Given the description of an element on the screen output the (x, y) to click on. 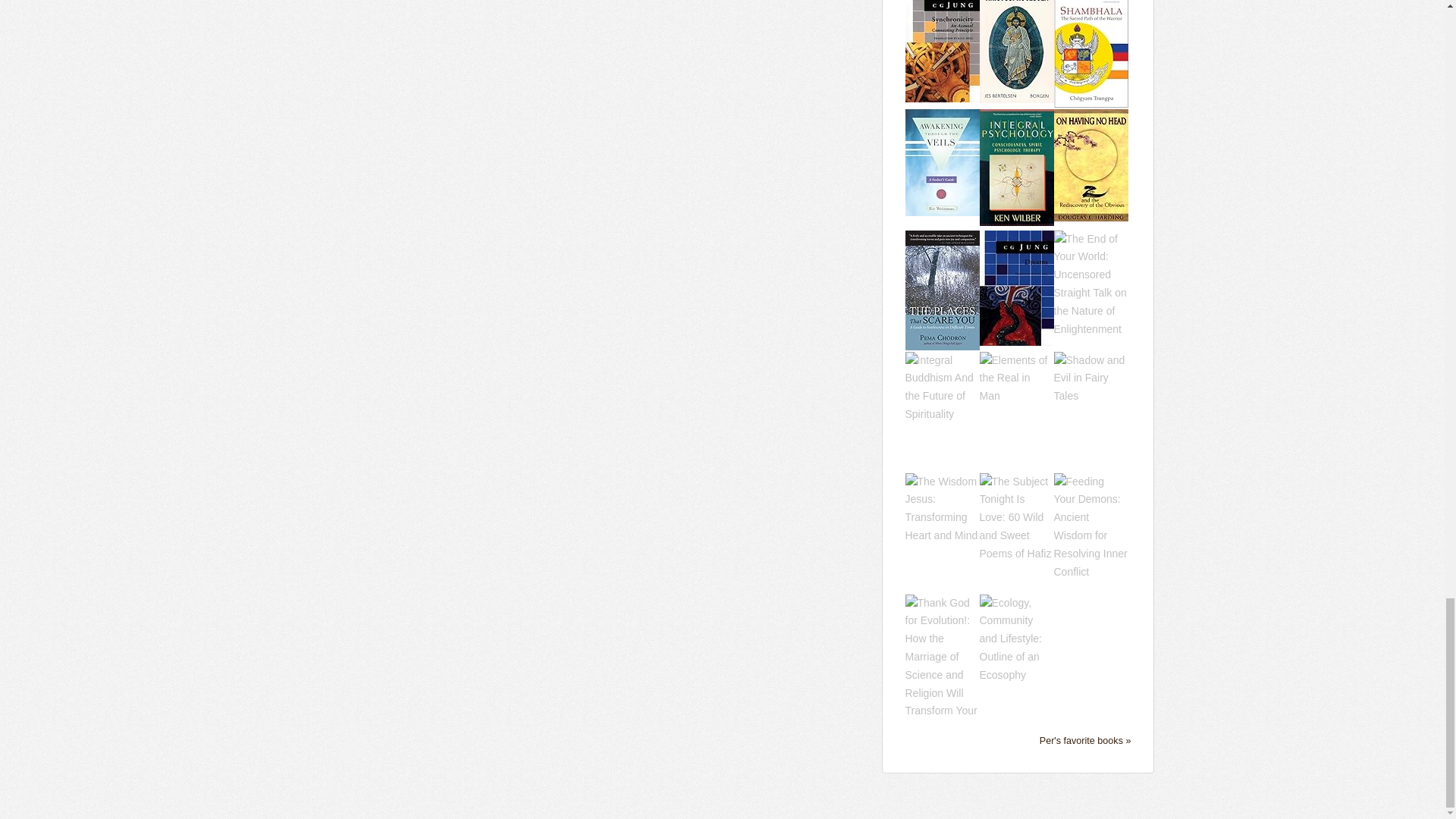
Awakening Through the Veils: A Seeker's Guide (942, 161)
Kristusprocessen (1016, 43)
Shambhala: The Sacred Path of the Warrior (1091, 46)
On Having No Head: Zen and the Rediscovery of the Obvious (1091, 163)
Synchronicity: An Acausal Connecting Principle (942, 43)
